Given the description of an element on the screen output the (x, y) to click on. 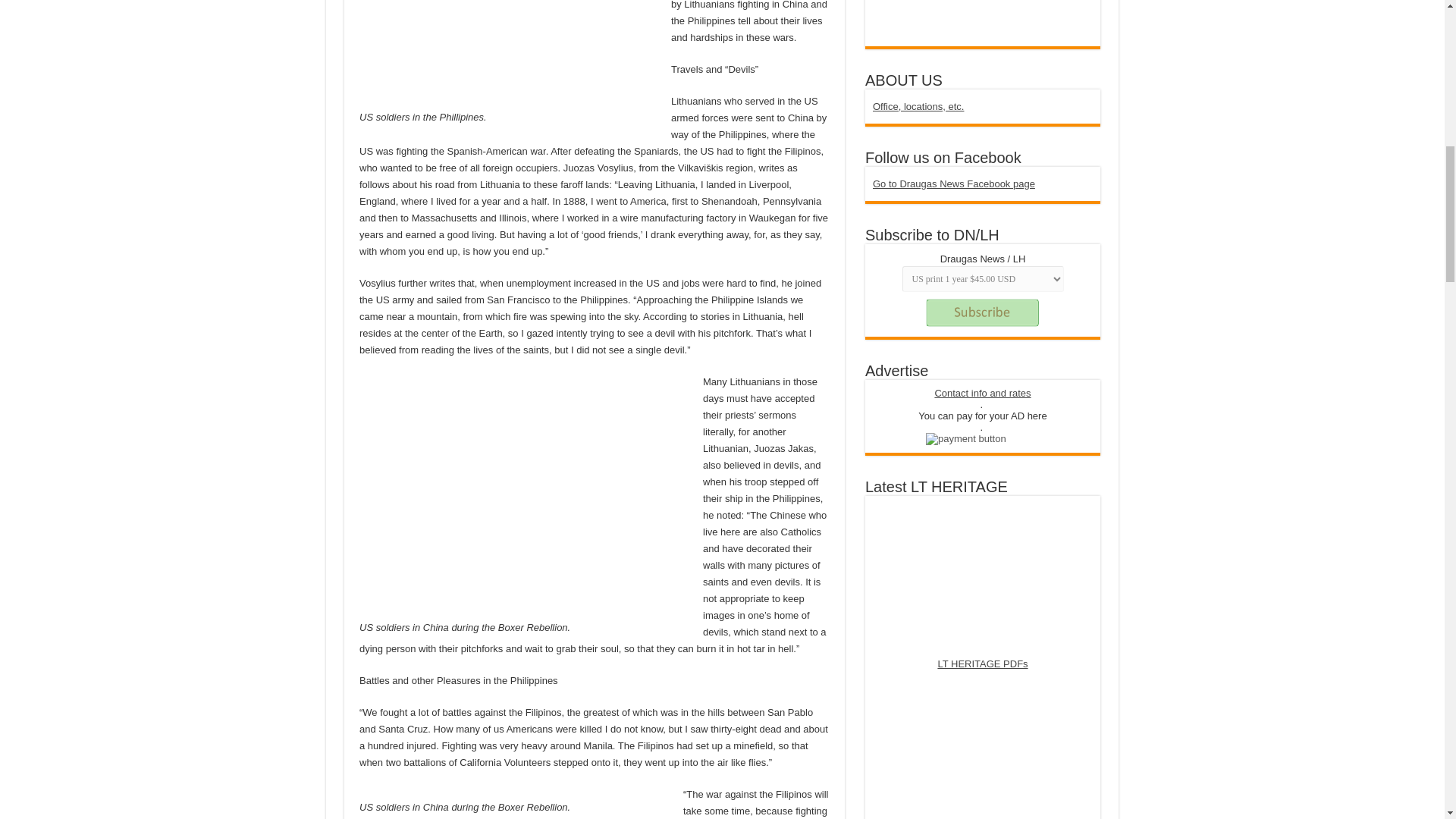
Scroll To Top (1421, 60)
Go to Draugas News Facebook page (953, 183)
Office, locations, etc. (917, 106)
Contact info and rates (982, 392)
LT HERITAGE PDFs (982, 663)
